Given the description of an element on the screen output the (x, y) to click on. 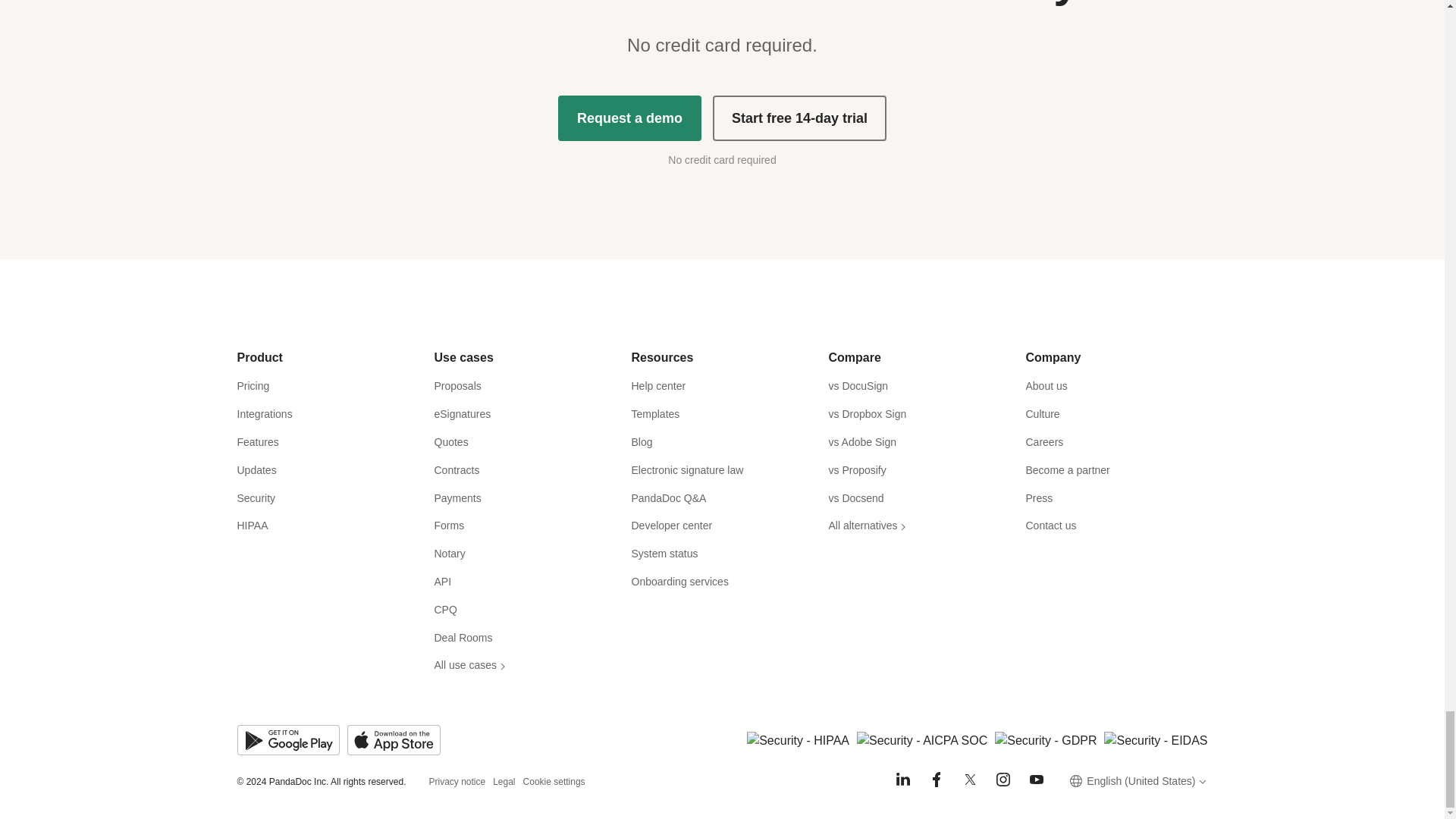
Facebook (935, 779)
Youtube (1036, 779)
LinkedIn (902, 779)
Instagram (1002, 779)
Twitter (969, 779)
